Given the description of an element on the screen output the (x, y) to click on. 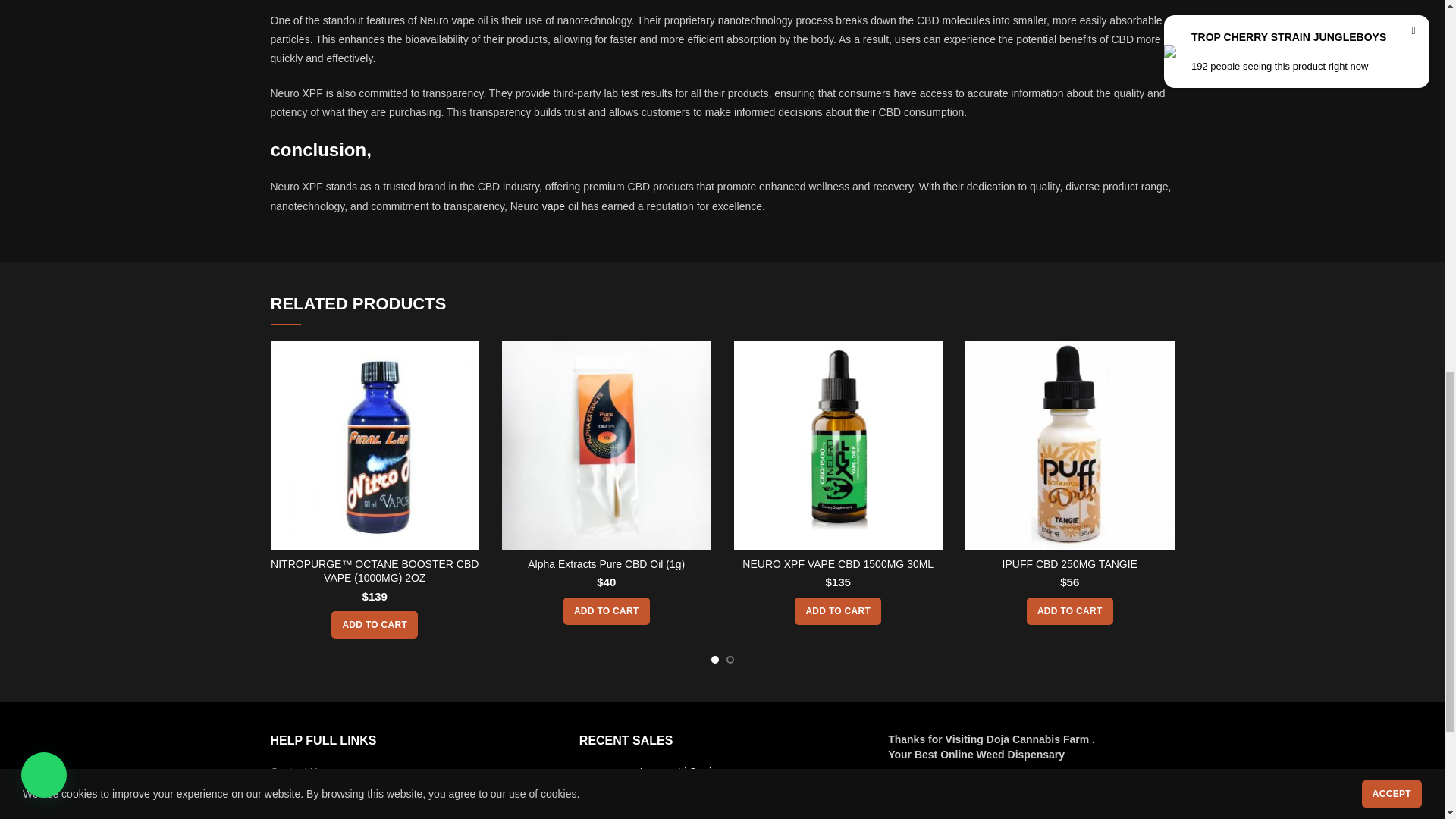
Lemonatti Strain (603, 789)
Lemonatti Strain (752, 771)
